Given the description of an element on the screen output the (x, y) to click on. 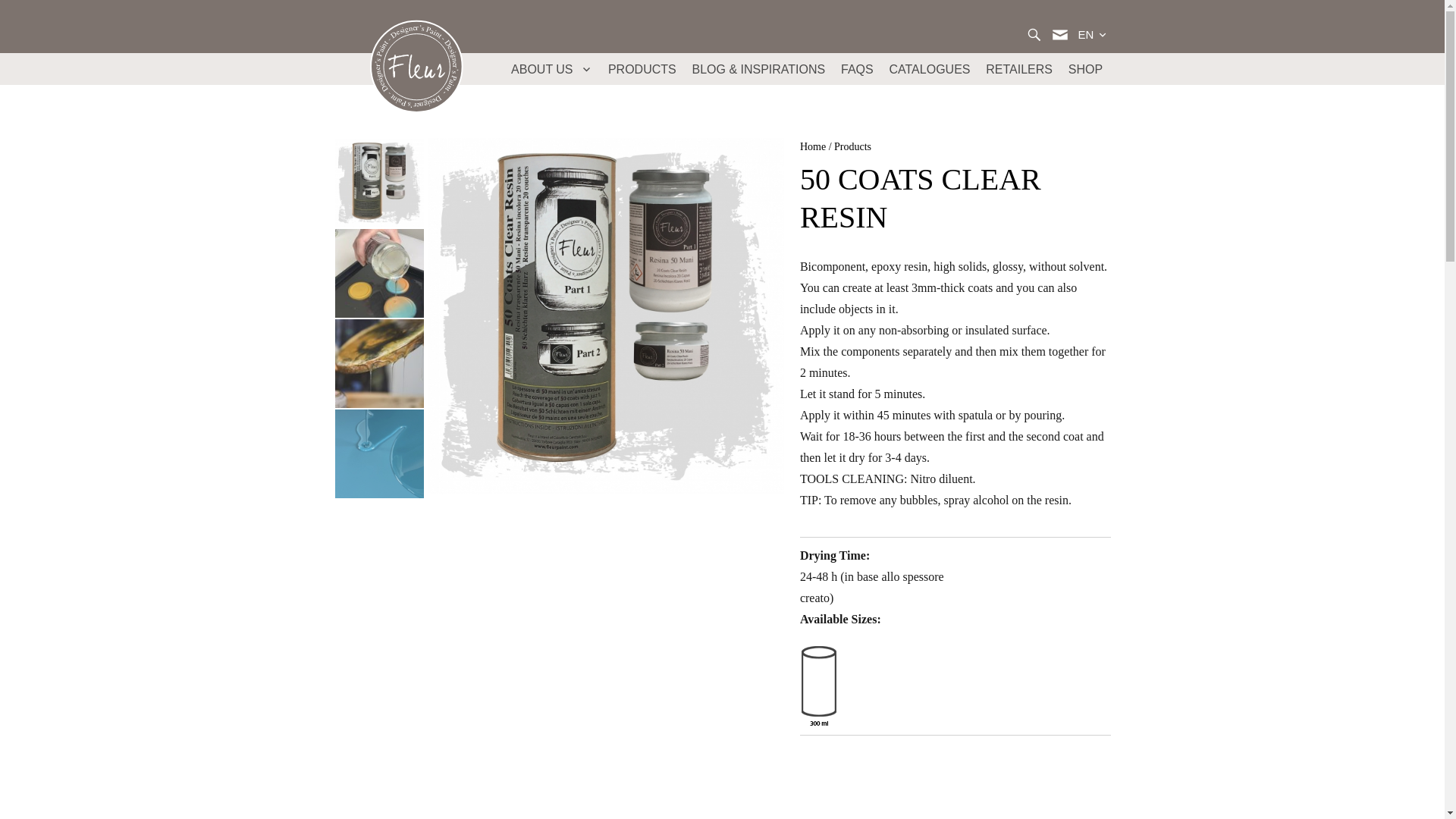
Home (812, 146)
ABOUT US (551, 69)
CATALOGUES (929, 69)
SHOP (1084, 69)
RETAILERS (1019, 69)
Products (852, 146)
FAQS (856, 69)
PRODUCTS (641, 69)
